Given the description of an element on the screen output the (x, y) to click on. 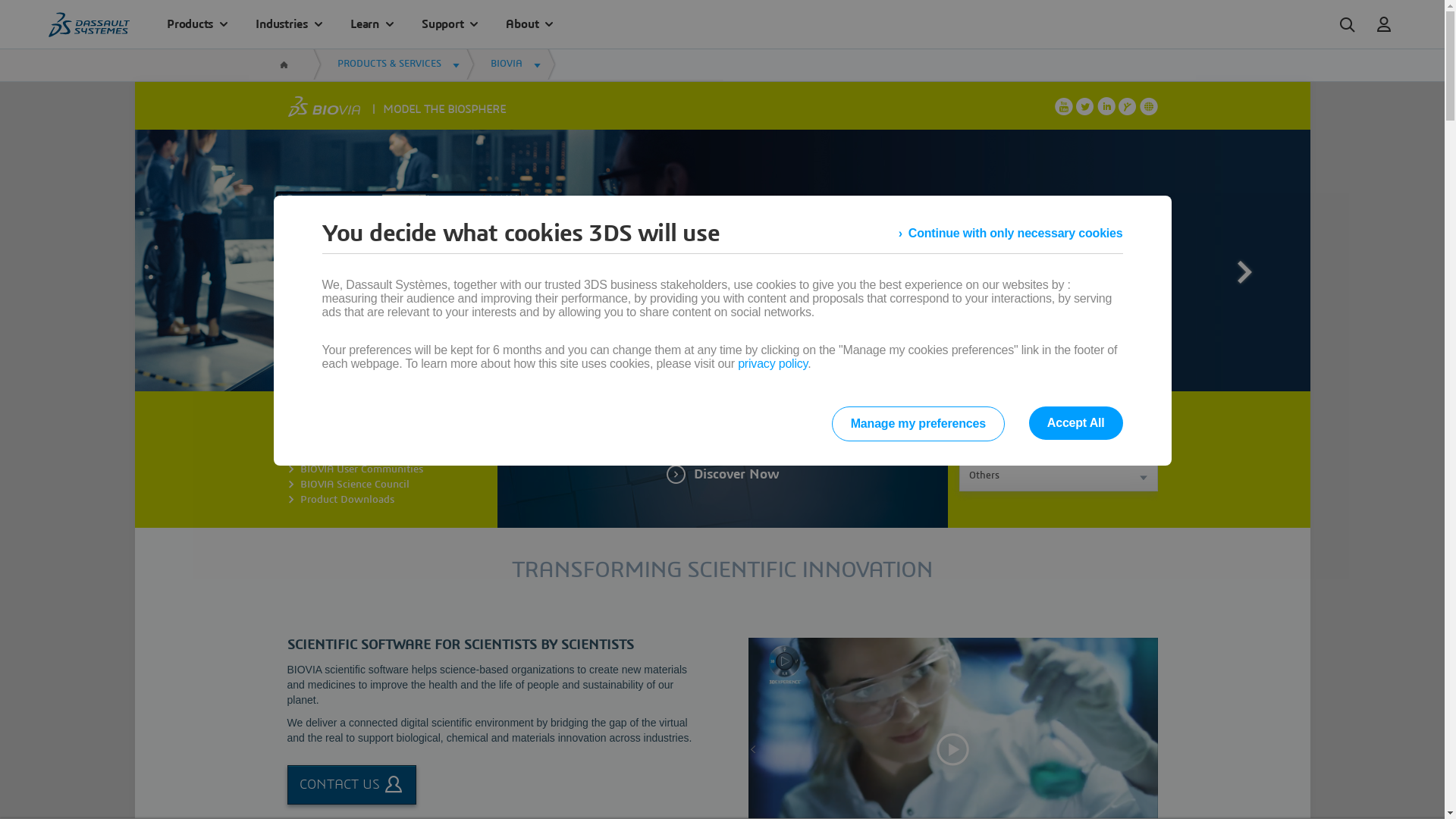
Continue with only necessary cookies Element type: text (1010, 233)
Events Element type: text (315, 453)
BIOVIA Science Council Element type: text (354, 484)
BIOVIA User Communities Element type: text (361, 469)
Resource Center Element type: text (338, 438)
Discover Now Element type: text (721, 474)
Accept All Element type: text (1076, 422)
privacy policy Element type: text (772, 363)
Discover Element type: text (863, 276)
CONTACT US Element type: text (350, 784)
BIOVIA Element type: text (514, 64)
Manage my preferences Element type: text (917, 423)
Product Downloads Element type: text (347, 499)
PRODUCTS & SERVICES Element type: text (397, 64)
